Given the description of an element on the screen output the (x, y) to click on. 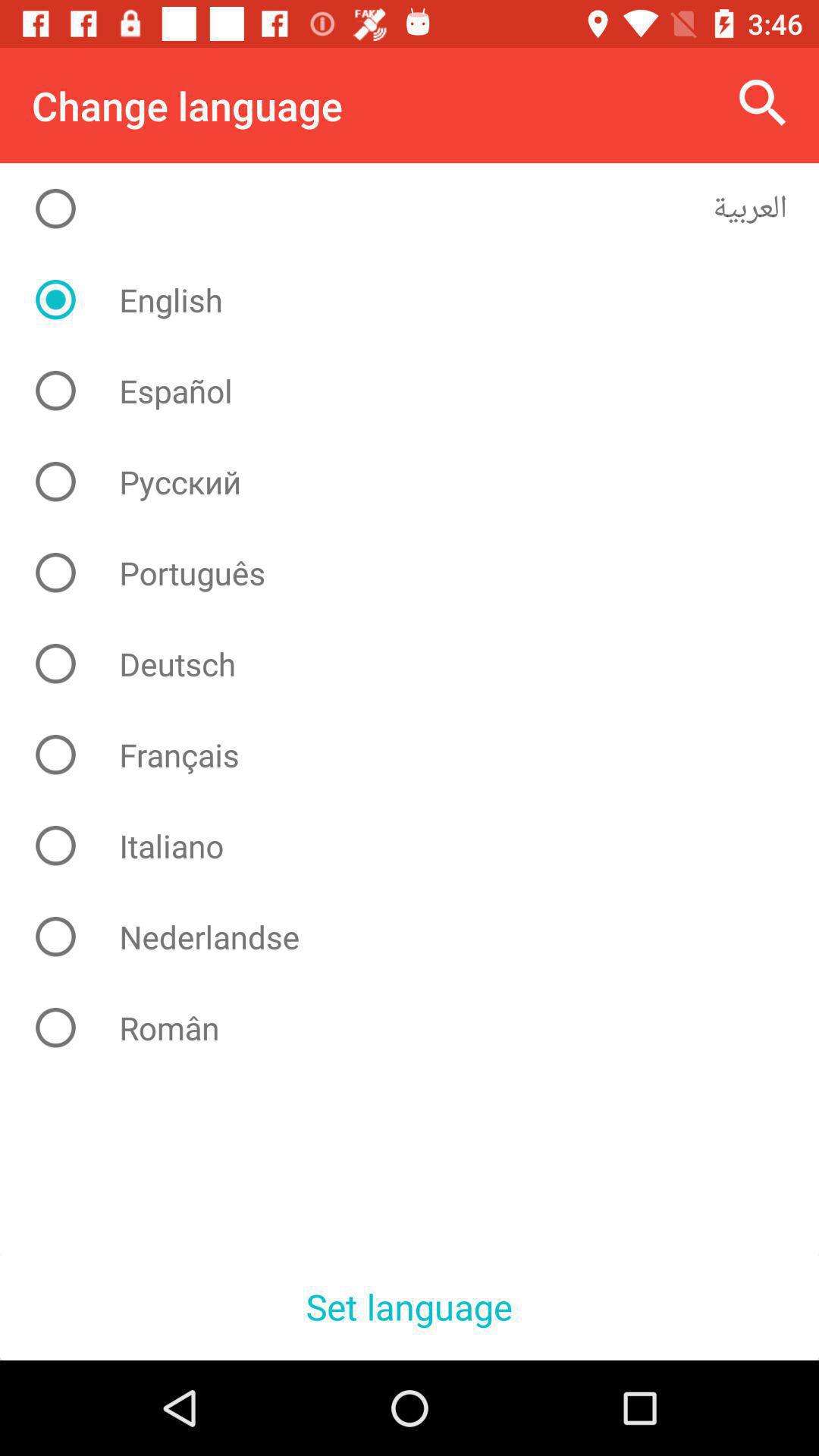
press the english (421, 299)
